Given the description of an element on the screen output the (x, y) to click on. 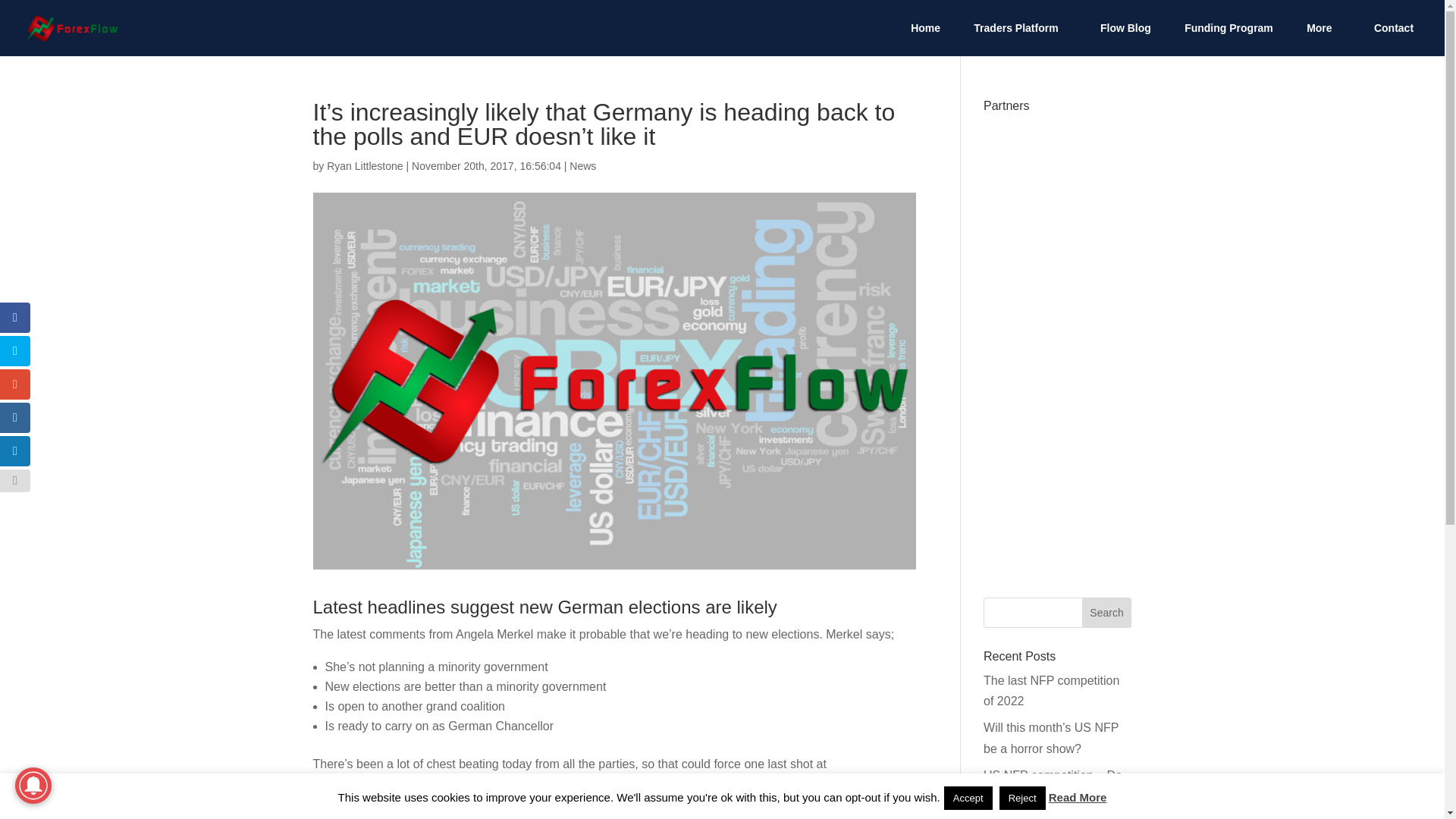
Ryan Littlestone (364, 165)
Home (925, 39)
Traders Platform (1019, 39)
More (1323, 39)
Flow Blog (1125, 39)
Funding Program (1228, 39)
Advertisement (1057, 346)
Contact (1394, 39)
News (582, 165)
Search (1106, 612)
Posts by Ryan Littlestone (364, 165)
